Given the description of an element on the screen output the (x, y) to click on. 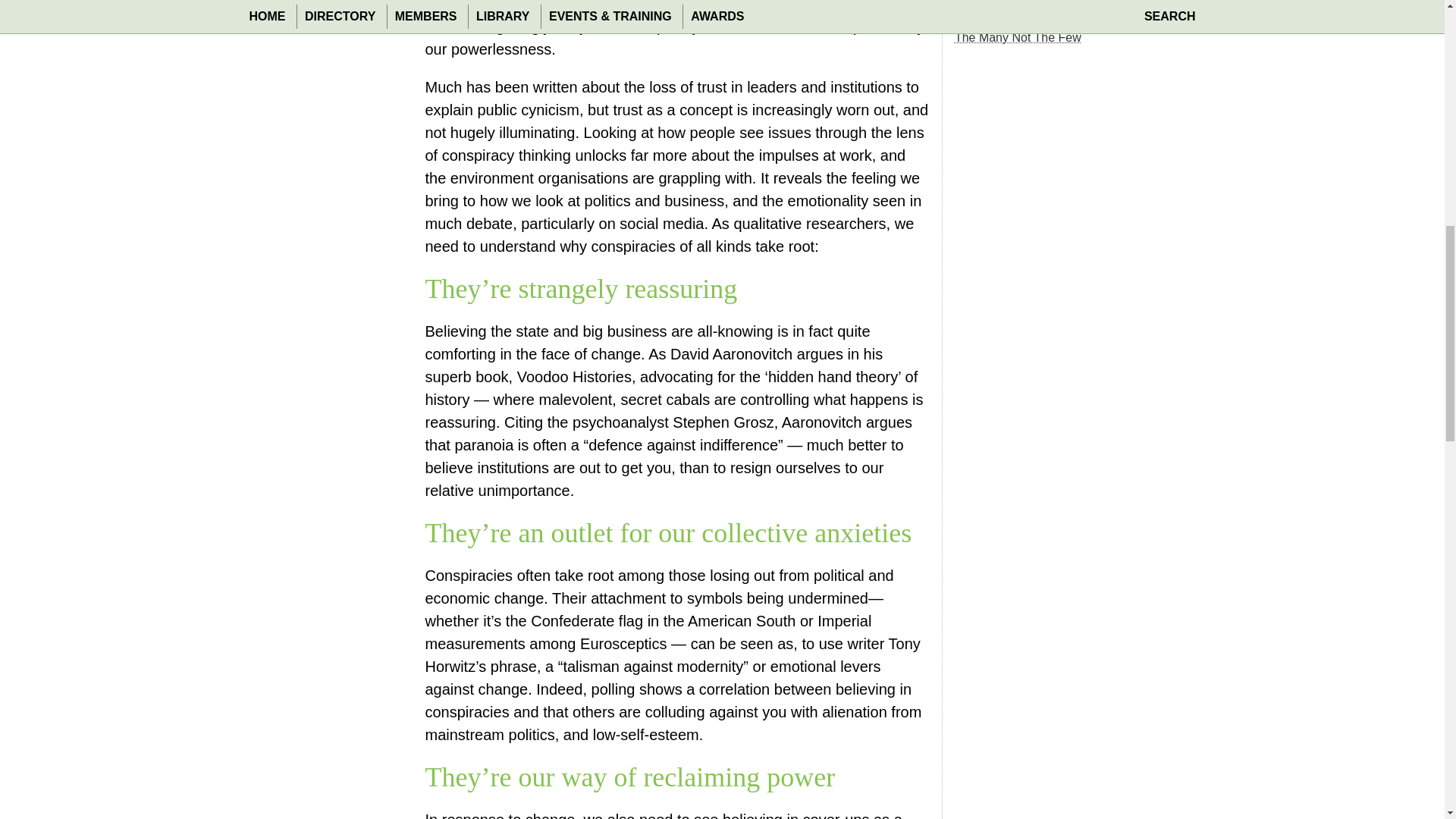
The Many Not The Few (1018, 37)
